Given the description of an element on the screen output the (x, y) to click on. 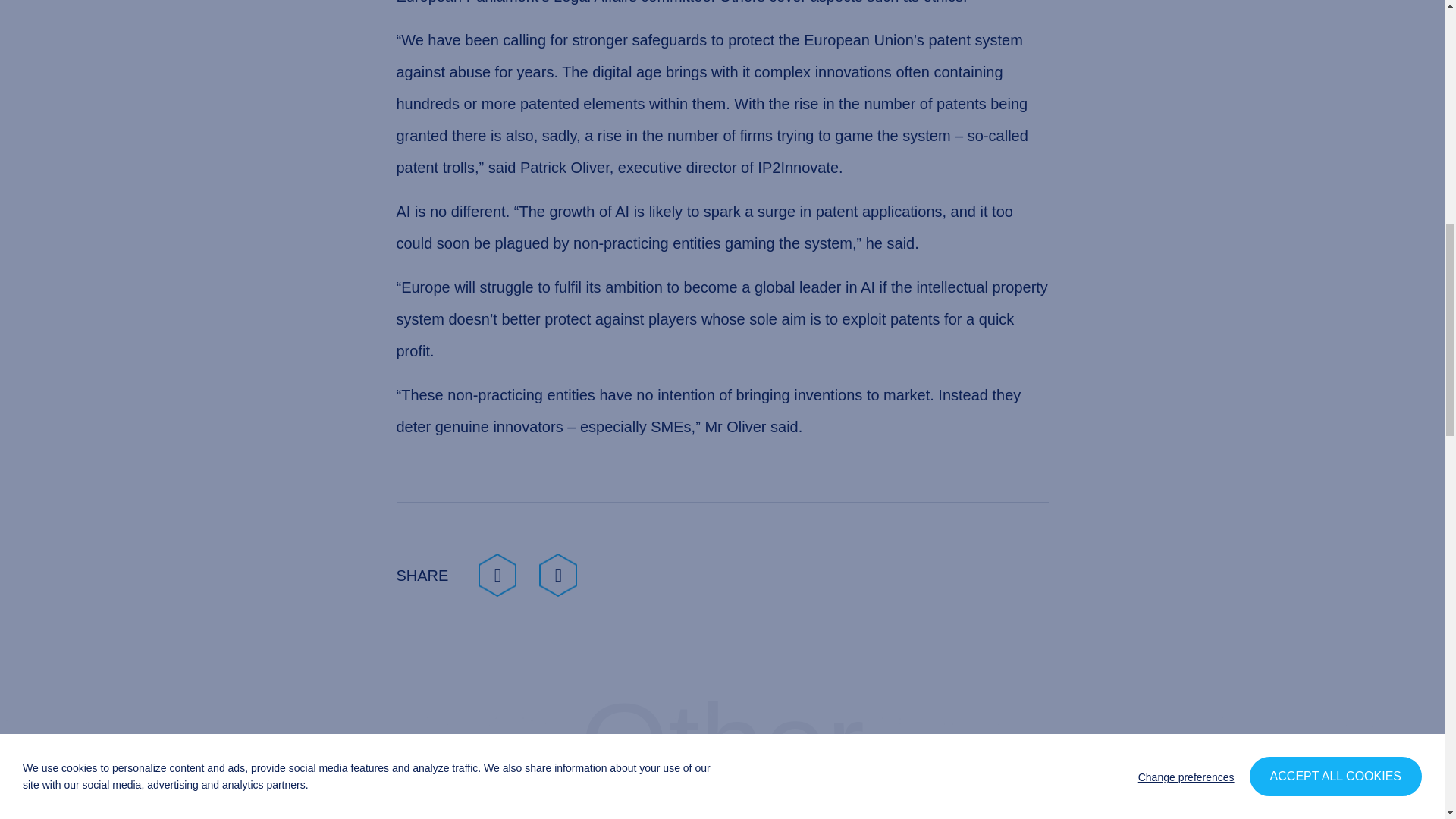
Other (721, 787)
